Given the description of an element on the screen output the (x, y) to click on. 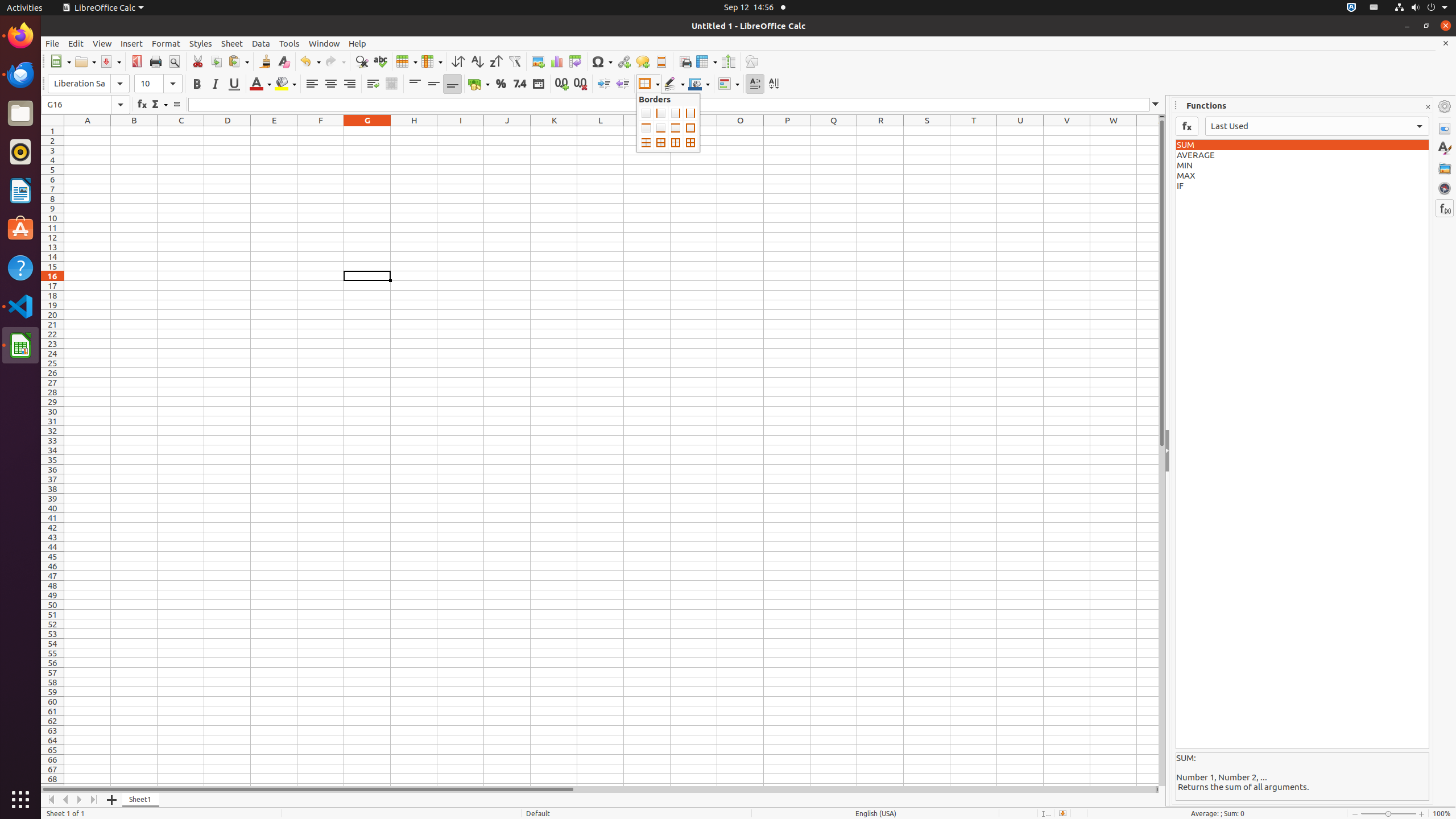
Symbol Element type: push-button (601, 61)
IF Element type: list-item (1302, 185)
L1 Element type: table-cell (600, 130)
Formula Element type: push-button (176, 104)
Clear Element type: push-button (283, 61)
